Given the description of an element on the screen output the (x, y) to click on. 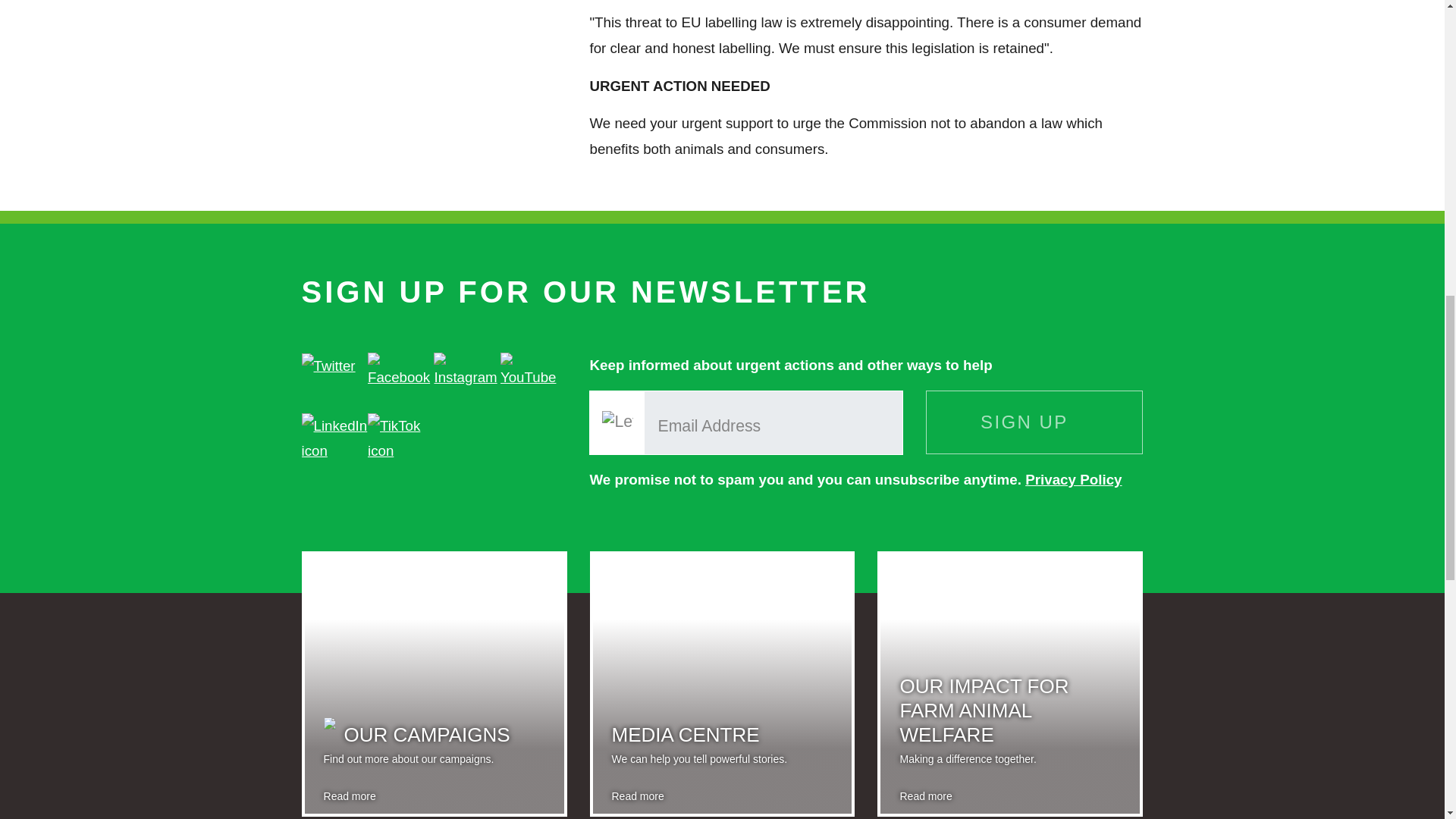
Privacy Policy (1073, 479)
SIGN UP (1034, 422)
Twitter (328, 365)
